Given the description of an element on the screen output the (x, y) to click on. 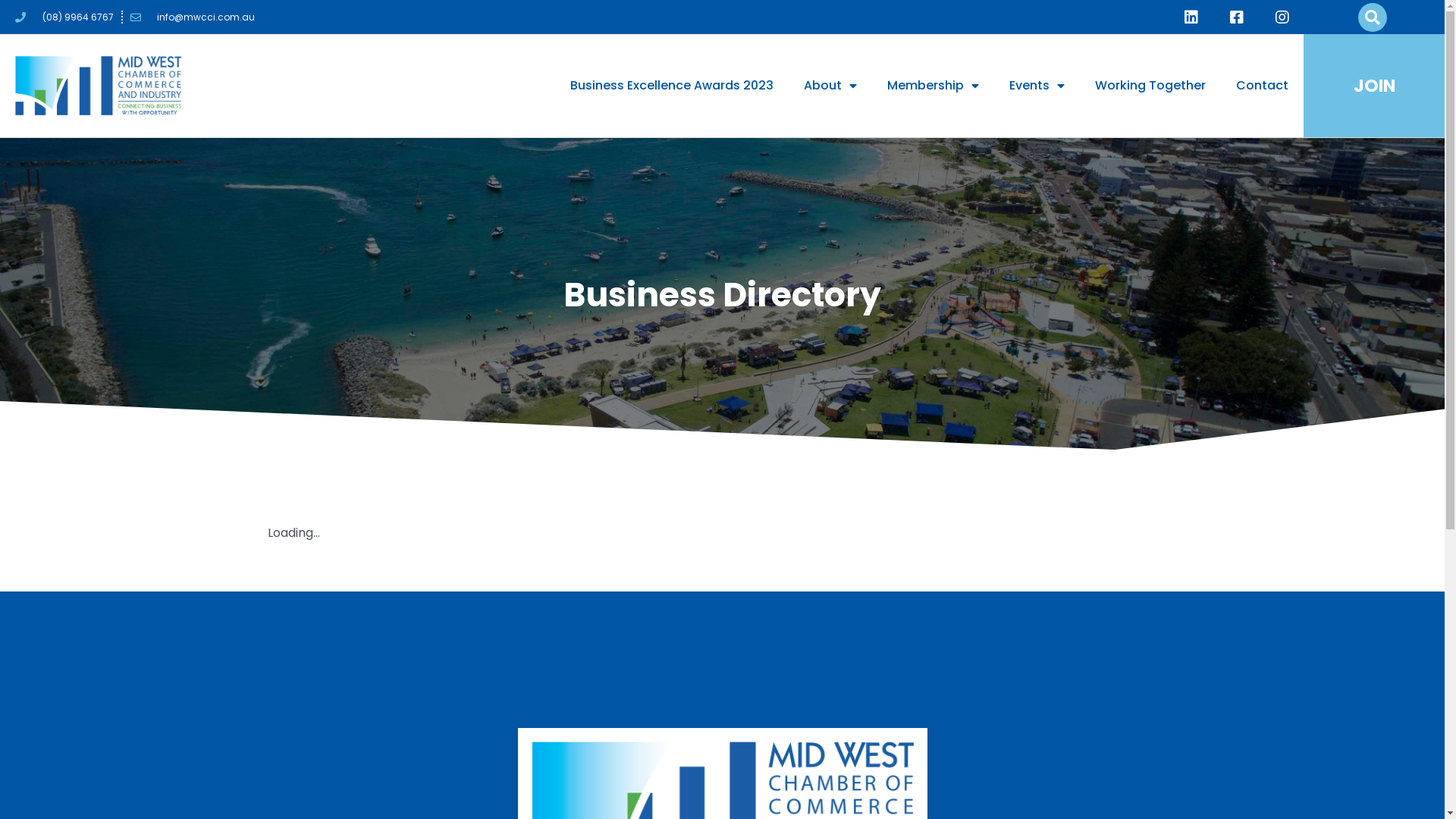
info@mwcci.com.au Element type: text (192, 17)
Events Element type: text (1036, 85)
Business Excellence Awards 2023 Element type: text (671, 85)
Working Together Element type: text (1149, 85)
JOIN Element type: text (1374, 84)
Membership Element type: text (933, 85)
About Element type: text (830, 85)
Contact Element type: text (1261, 85)
